Given the description of an element on the screen output the (x, y) to click on. 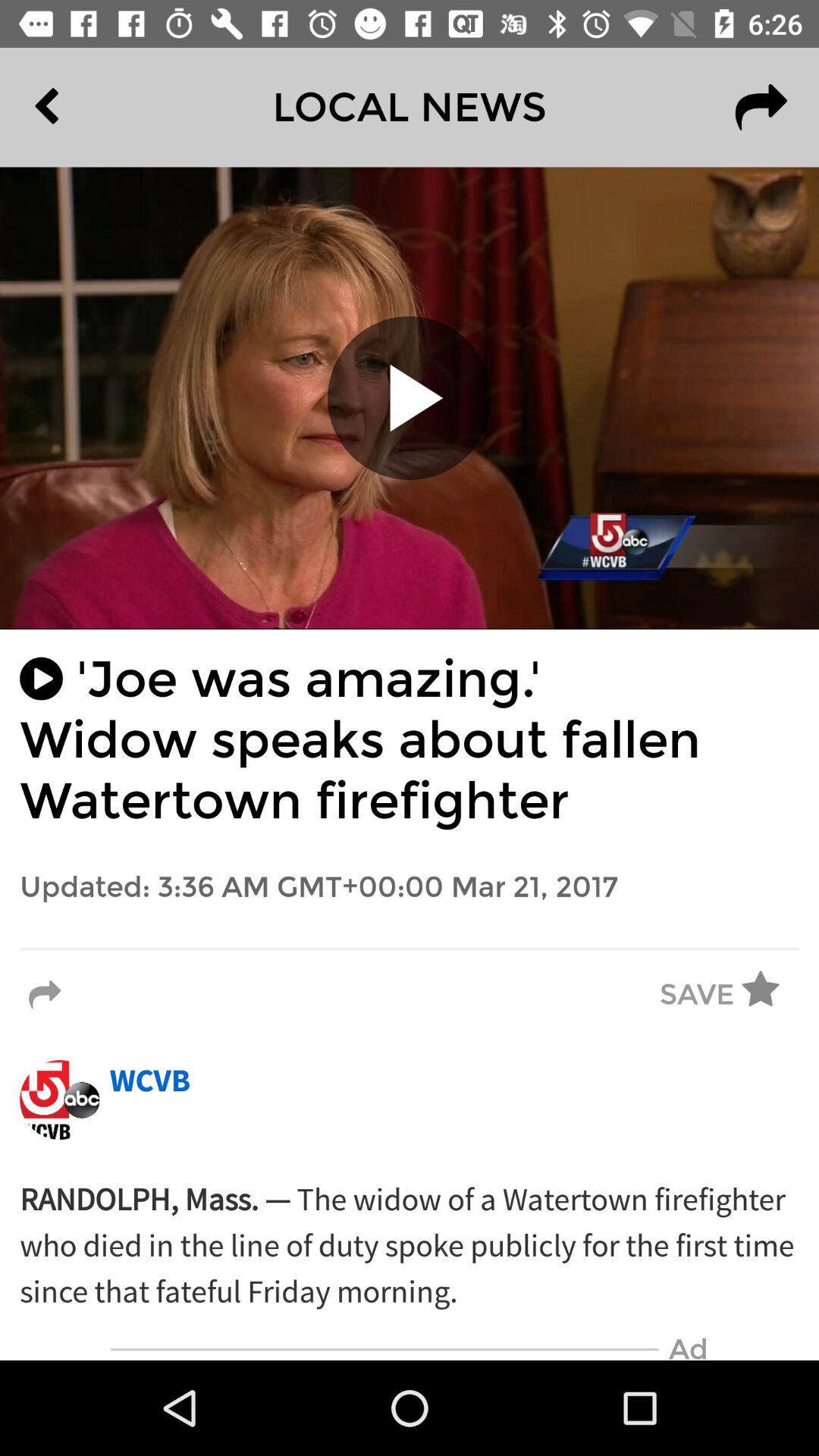
tap the icon below updated 3 36 icon (409, 949)
